Given the description of an element on the screen output the (x, y) to click on. 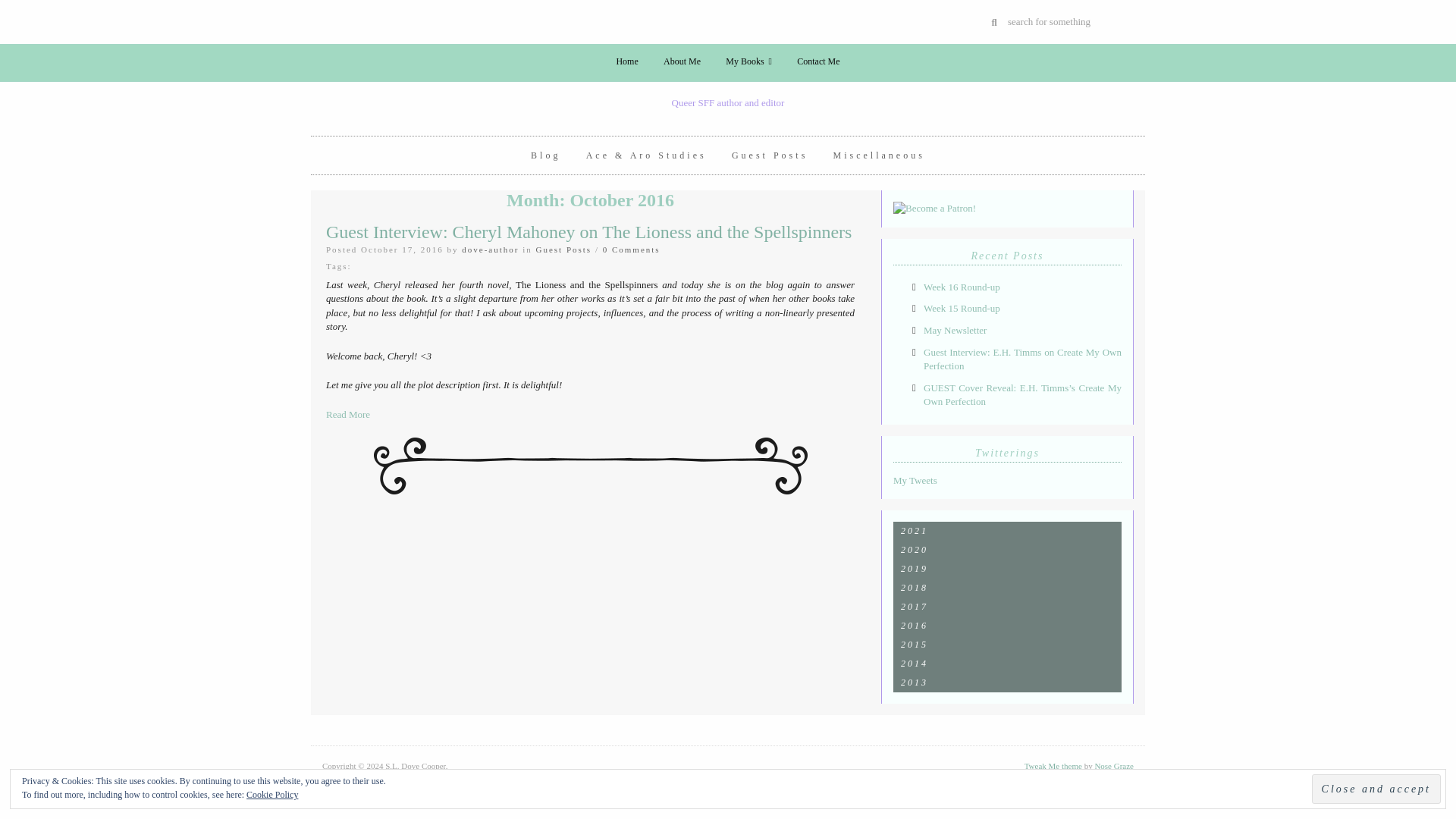
My Tweets (915, 480)
2020 (1007, 549)
Contact Me (818, 61)
Week 16 Round-up (961, 286)
0 Comments (631, 248)
Week 15 Round-up (961, 307)
Guest Posts (769, 155)
My Books   (748, 61)
View all posts in Guest Posts (563, 248)
